Given the description of an element on the screen output the (x, y) to click on. 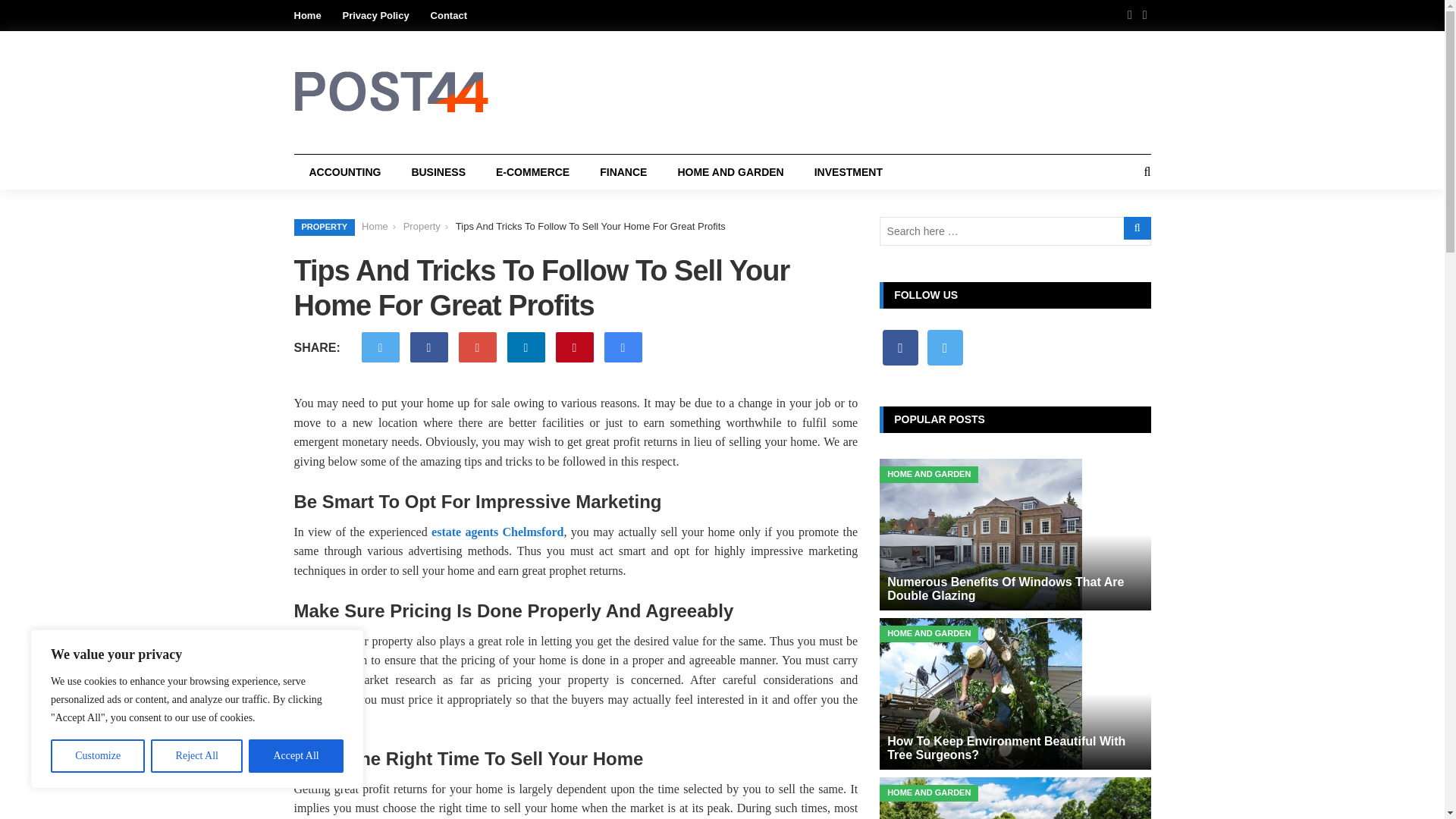
Contact (448, 15)
Customize (97, 756)
Reject All (197, 756)
Search for: (1014, 231)
Privacy Policy (375, 15)
Accept All (295, 756)
